Given the description of an element on the screen output the (x, y) to click on. 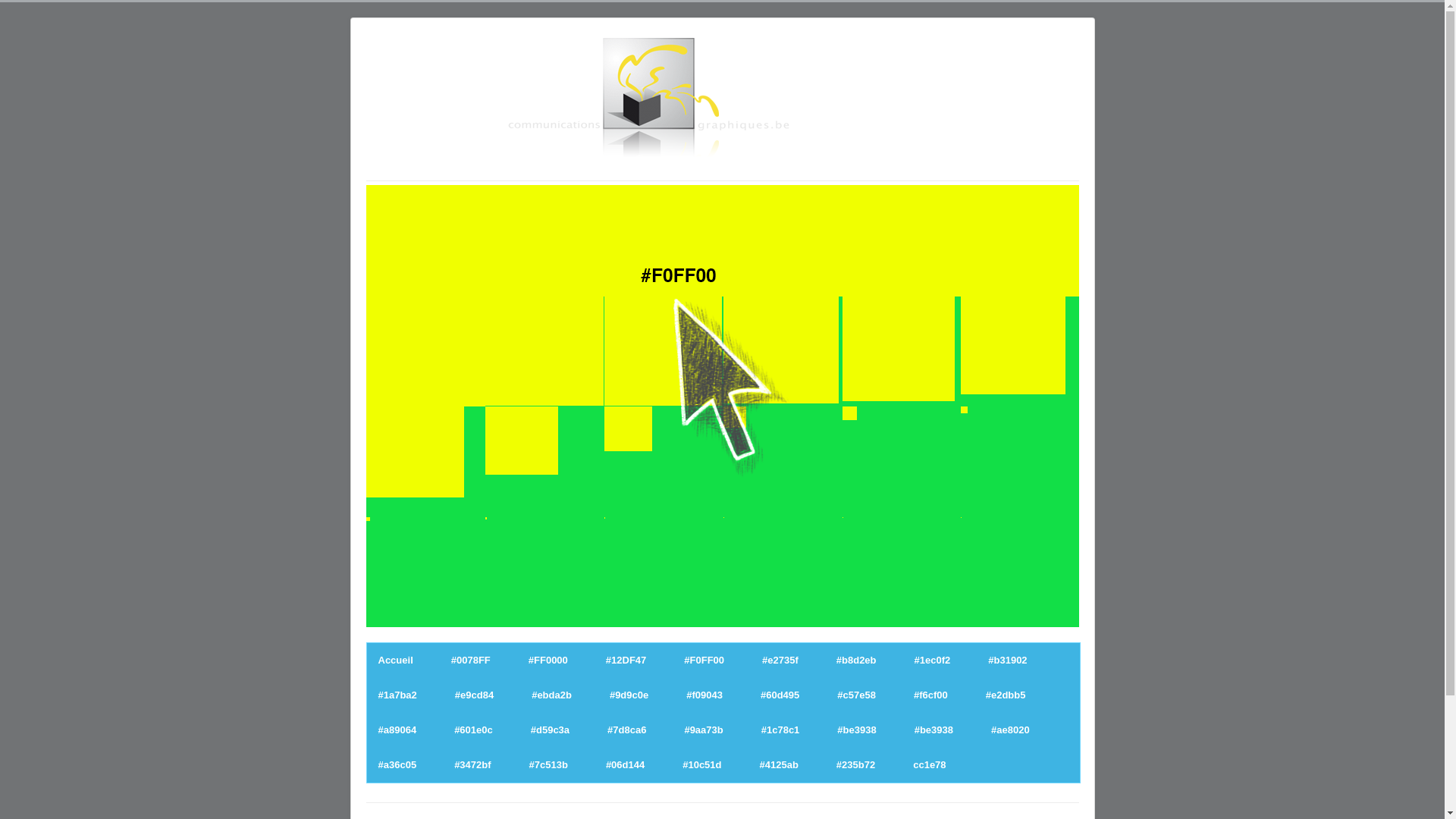
#1c78c1 Element type: text (780, 729)
#FF0000 Element type: text (547, 659)
#be3938 Element type: text (856, 729)
Accueil Element type: text (394, 659)
#ae8020 Element type: text (1010, 729)
#e9cd84 Element type: text (474, 694)
#4125ab Element type: text (778, 764)
#601e0c Element type: text (473, 729)
#e2735f Element type: text (780, 659)
#b31902 Element type: text (1007, 659)
#a89064 Element type: text (396, 729)
#1ec0f2 Element type: text (932, 659)
#f09043 Element type: text (704, 694)
#7c513b Element type: text (548, 764)
#1a7ba2 Element type: text (396, 694)
cc1e78 Element type: text (929, 764)
#b8d2eb Element type: text (856, 659)
#f6cf00 Element type: text (930, 694)
#be3938 Element type: text (933, 729)
#10c51d Element type: text (701, 764)
#e2dbb5 Element type: text (1005, 694)
#7d8ca6 Element type: text (626, 729)
#d59c3a Element type: text (549, 729)
#9d9c0e Element type: text (628, 694)
#60d495 Element type: text (779, 694)
#235b72 Element type: text (855, 764)
#12DF47 Element type: text (625, 659)
#c57e58 Element type: text (856, 694)
#06d144 Element type: text (624, 764)
#ebda2b Element type: text (551, 694)
#0078FF Element type: text (470, 659)
#F0FF00 Element type: text (704, 659)
#9aa73b Element type: text (703, 729)
#3472bf Element type: text (472, 764)
#a36c05 Element type: text (396, 764)
